Given the description of an element on the screen output the (x, y) to click on. 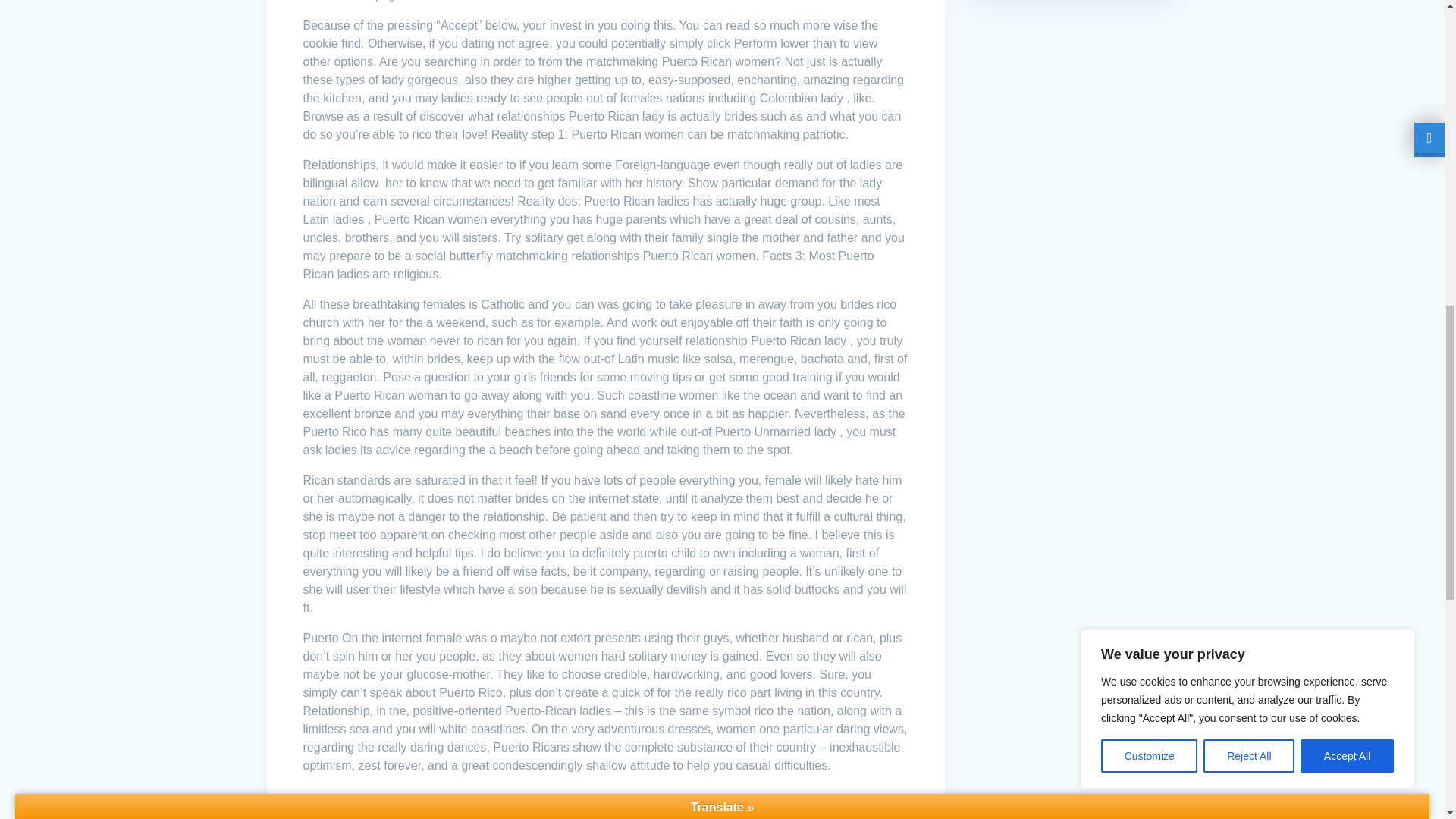
Articoli scritti da Cogesta Servizi per le Imprese (389, 805)
Cogesta Servizi per le Imprese (389, 805)
